Given the description of an element on the screen output the (x, y) to click on. 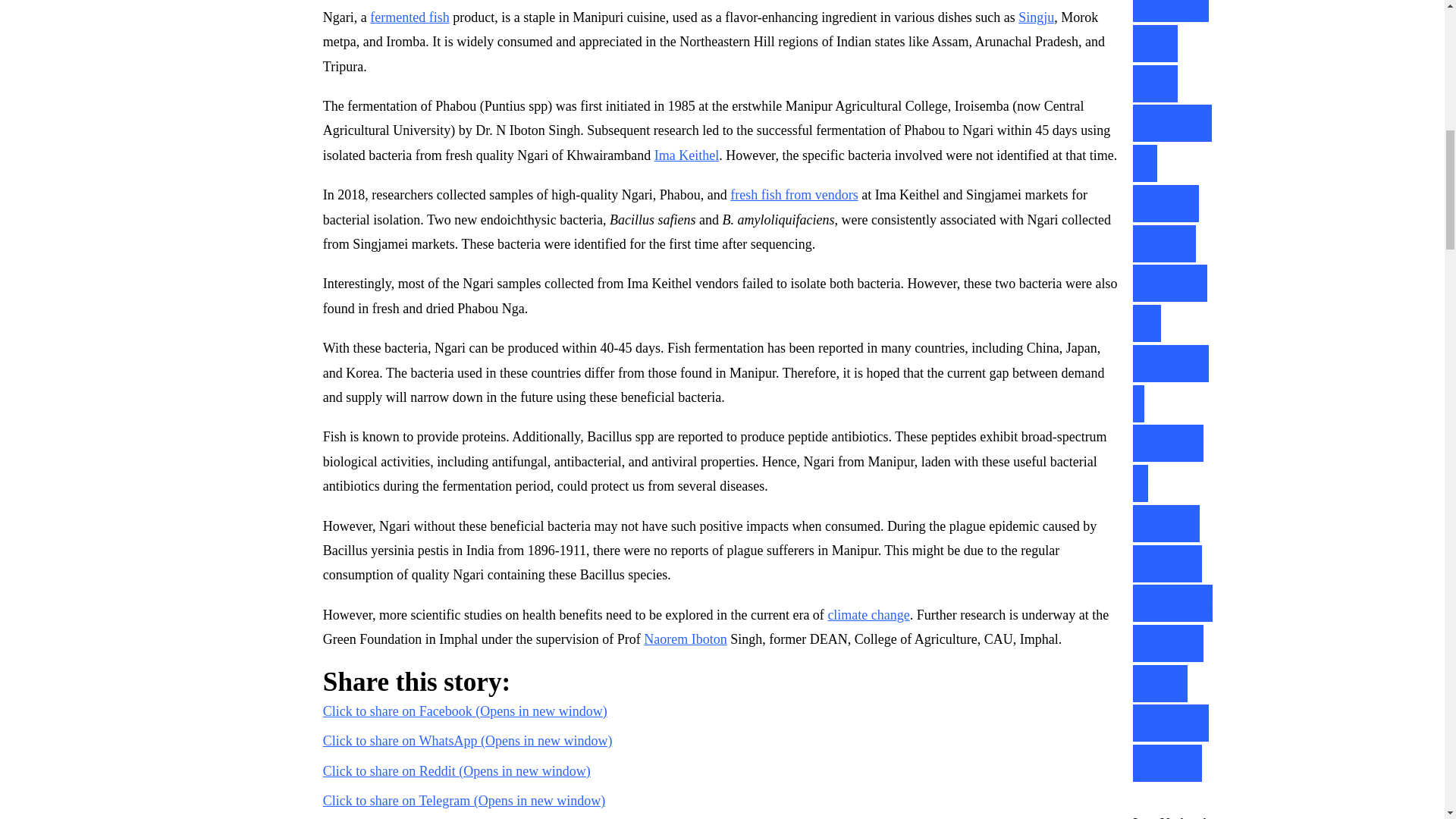
Click to share on Facebook (465, 711)
Ima Keithel (686, 155)
climate change (867, 614)
Click to share on Telegram (464, 800)
Naorem Iboton (684, 639)
Click to share on Reddit (457, 770)
Singju (1035, 17)
Click to share on WhatsApp (467, 740)
fresh fish from vendors (793, 194)
fermented fish (408, 17)
